Given the description of an element on the screen output the (x, y) to click on. 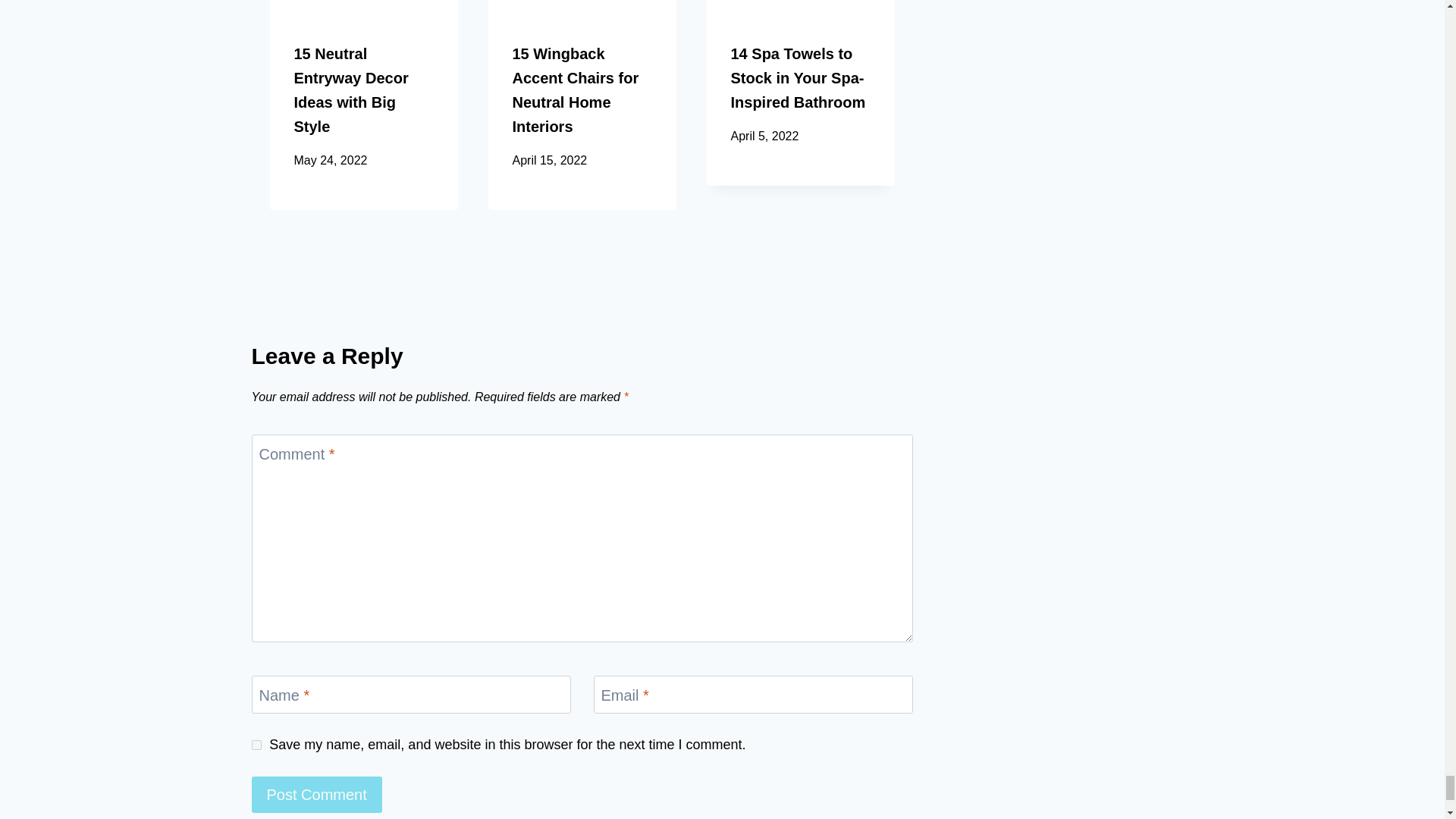
Post Comment (316, 794)
yes (256, 745)
